Given the description of an element on the screen output the (x, y) to click on. 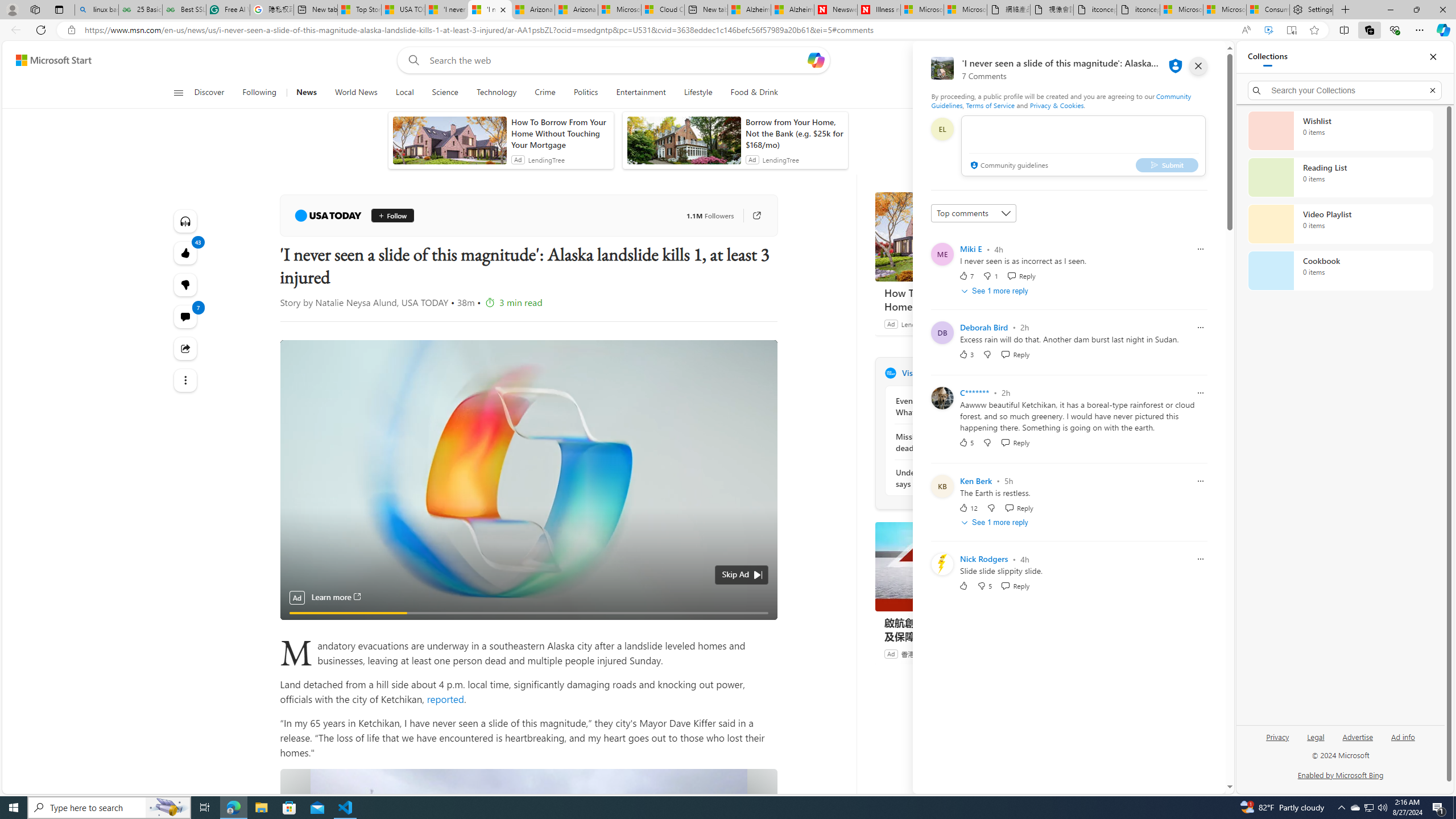
View on Watch (761, 355)
Community guidelines (1008, 165)
Enter your search term (617, 59)
Class: button-glyph (178, 92)
Miki E (970, 248)
Newsweek - News, Analysis, Politics, Business, Technology (835, 9)
Fullscreen (737, 606)
Food & Drink (748, 92)
